Given the description of an element on the screen output the (x, y) to click on. 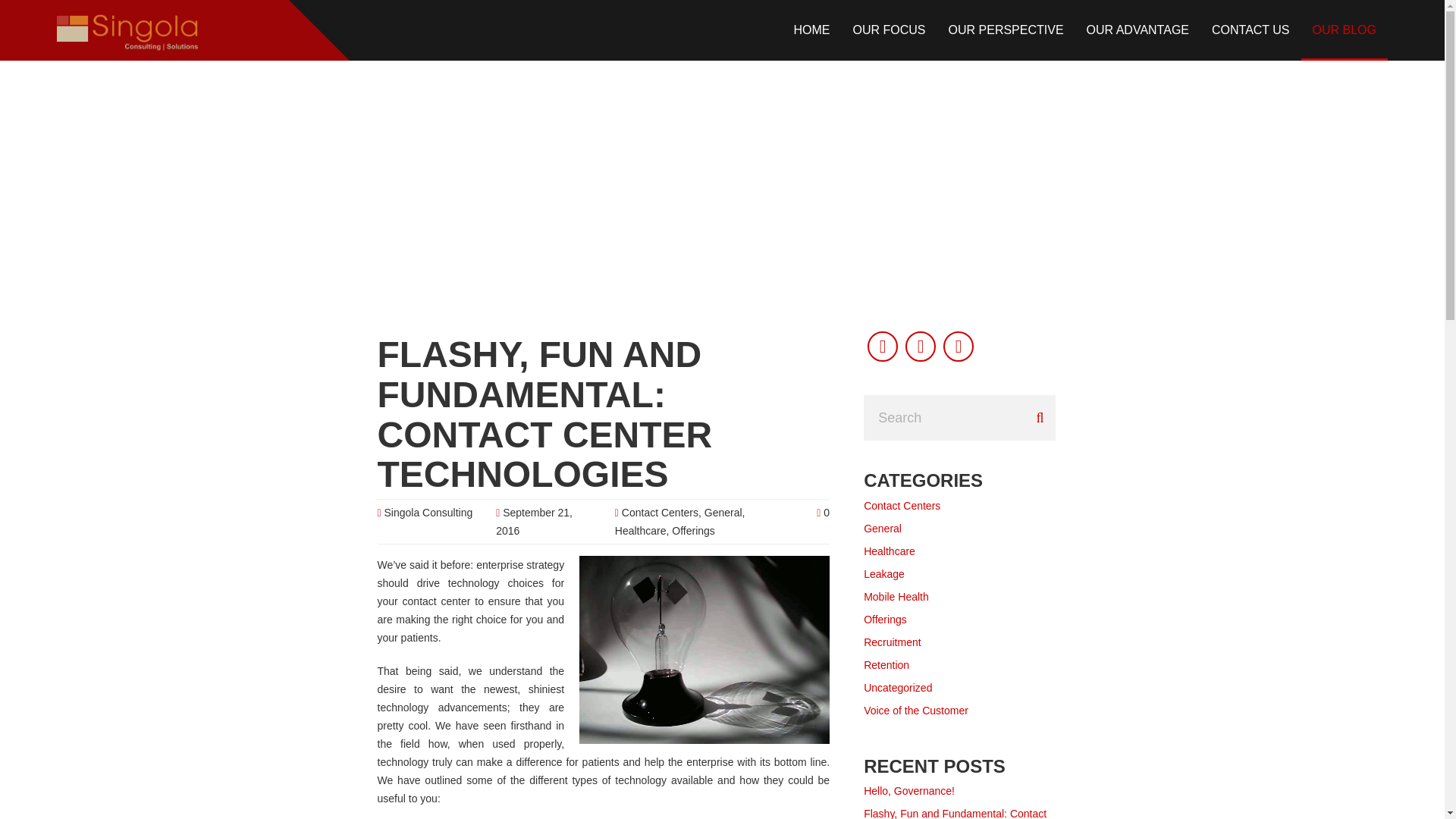
Posts by Singola Consulting (428, 512)
General (723, 512)
OUR BLOG (1344, 30)
Linkedin (920, 346)
Singola Consulting (428, 512)
OUR ADVANTAGE (1137, 30)
Healthcare (640, 530)
Twitter (882, 346)
OUR FOCUS (889, 30)
Email (958, 346)
